Given the description of an element on the screen output the (x, y) to click on. 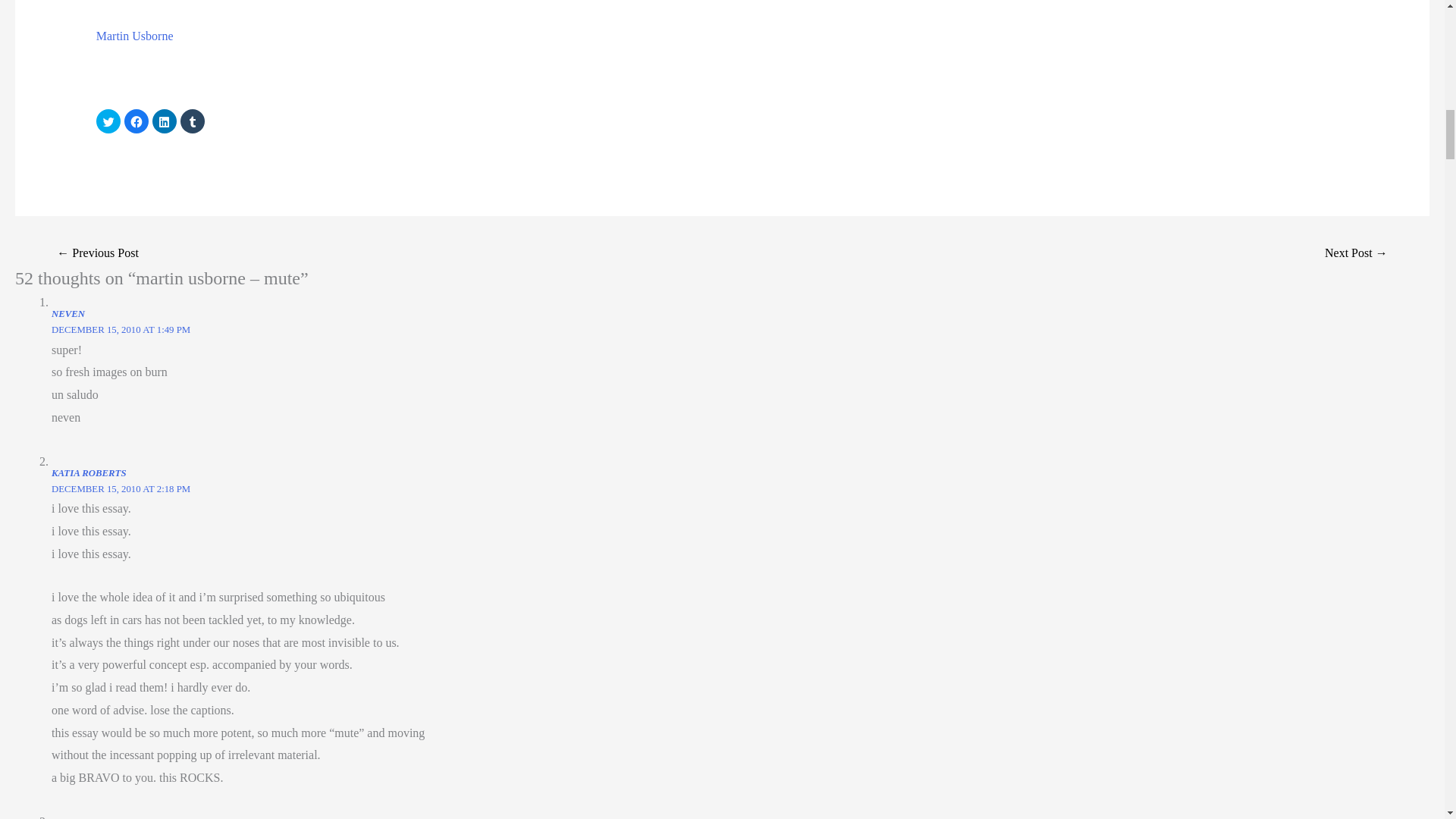
Martin Usborne (134, 35)
DECEMBER 15, 2010 AT 1:49 PM (120, 329)
Click to share on Tumblr (192, 120)
NEVEN (67, 313)
DECEMBER 15, 2010 AT 2:18 PM (120, 489)
Click to share on LinkedIn (164, 120)
Click to share on Facebook (135, 120)
Click to share on Twitter (108, 120)
KATIA ROBERTS (88, 472)
